Given the description of an element on the screen output the (x, y) to click on. 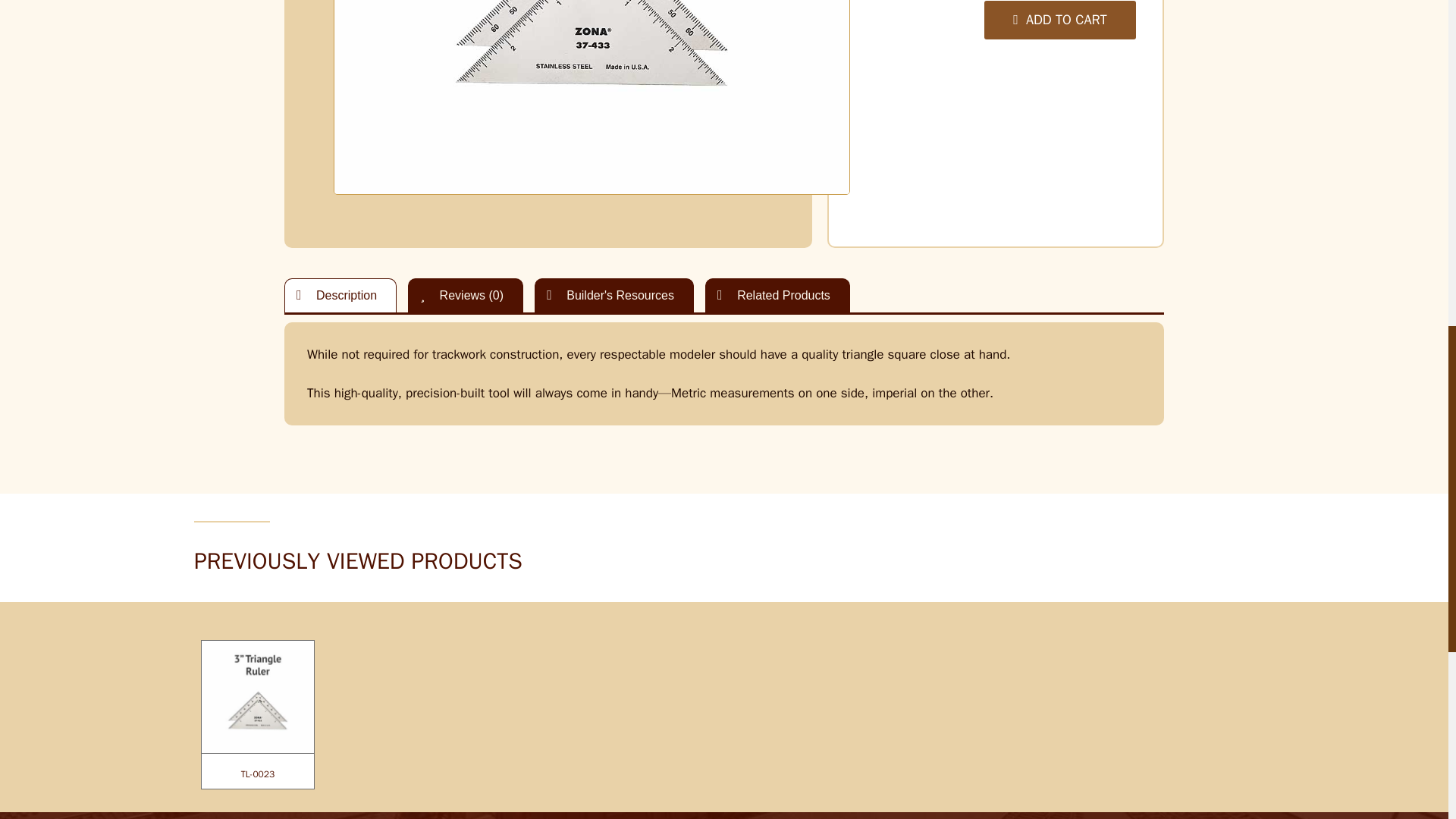
Related Products (777, 295)
ADD TO CART (1059, 19)
Builder's Resources (614, 295)
Description (339, 295)
image (590, 97)
